Given the description of an element on the screen output the (x, y) to click on. 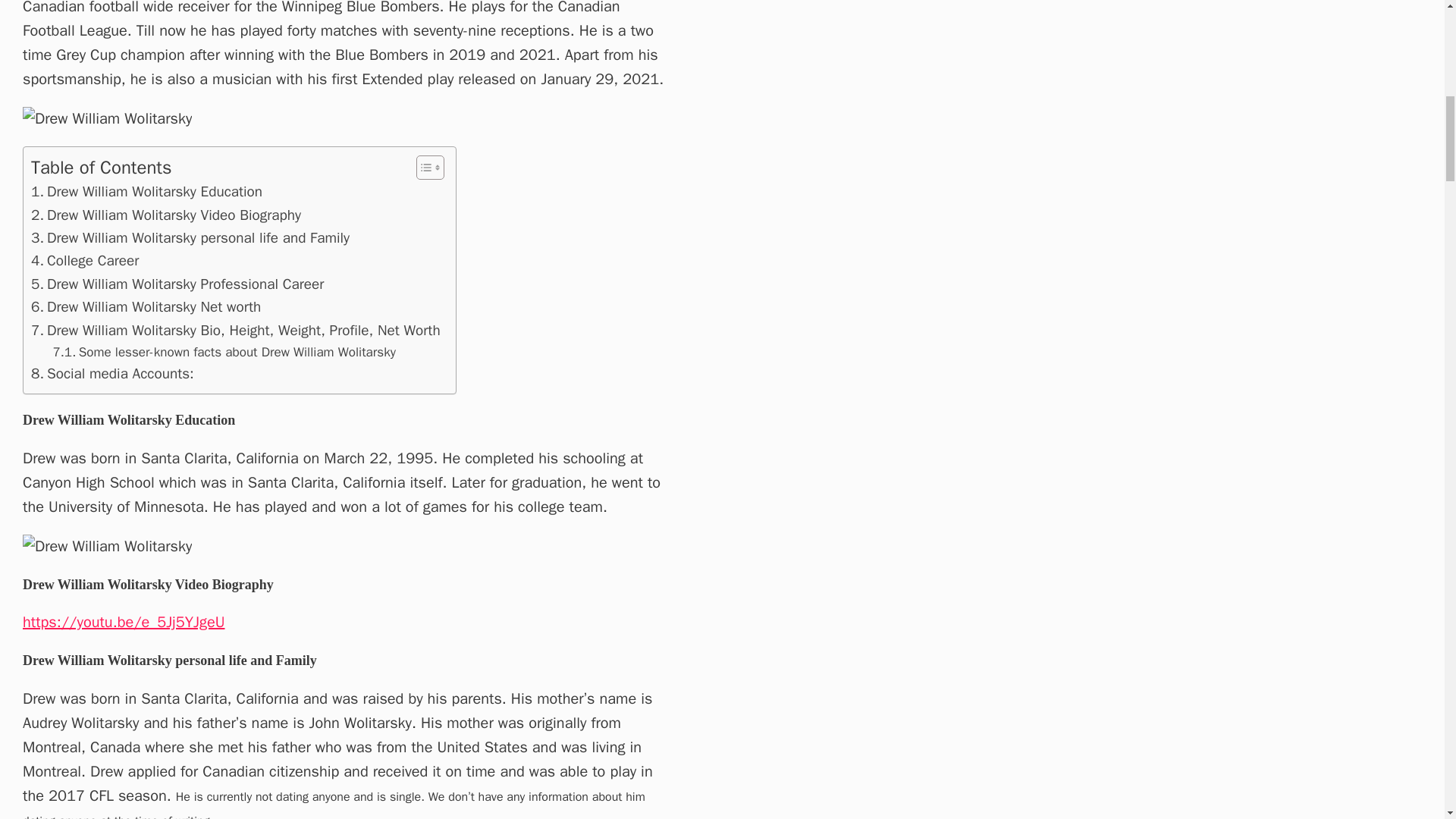
Drew William Wolitarsky personal life and Family (189, 237)
Drew William Wolitarsky Education (146, 191)
Social media Accounts: (111, 373)
Some lesser-known facts about Drew William Wolitarsky (224, 352)
College Career (84, 260)
Drew William Wolitarsky Professional Career (176, 283)
Drew William Wolitarsky Professional Career (176, 283)
Drew William Wolitarsky personal life and Family (189, 237)
Drew William Wolitarsky Video Biography (165, 214)
College Career (84, 260)
